Given the description of an element on the screen output the (x, y) to click on. 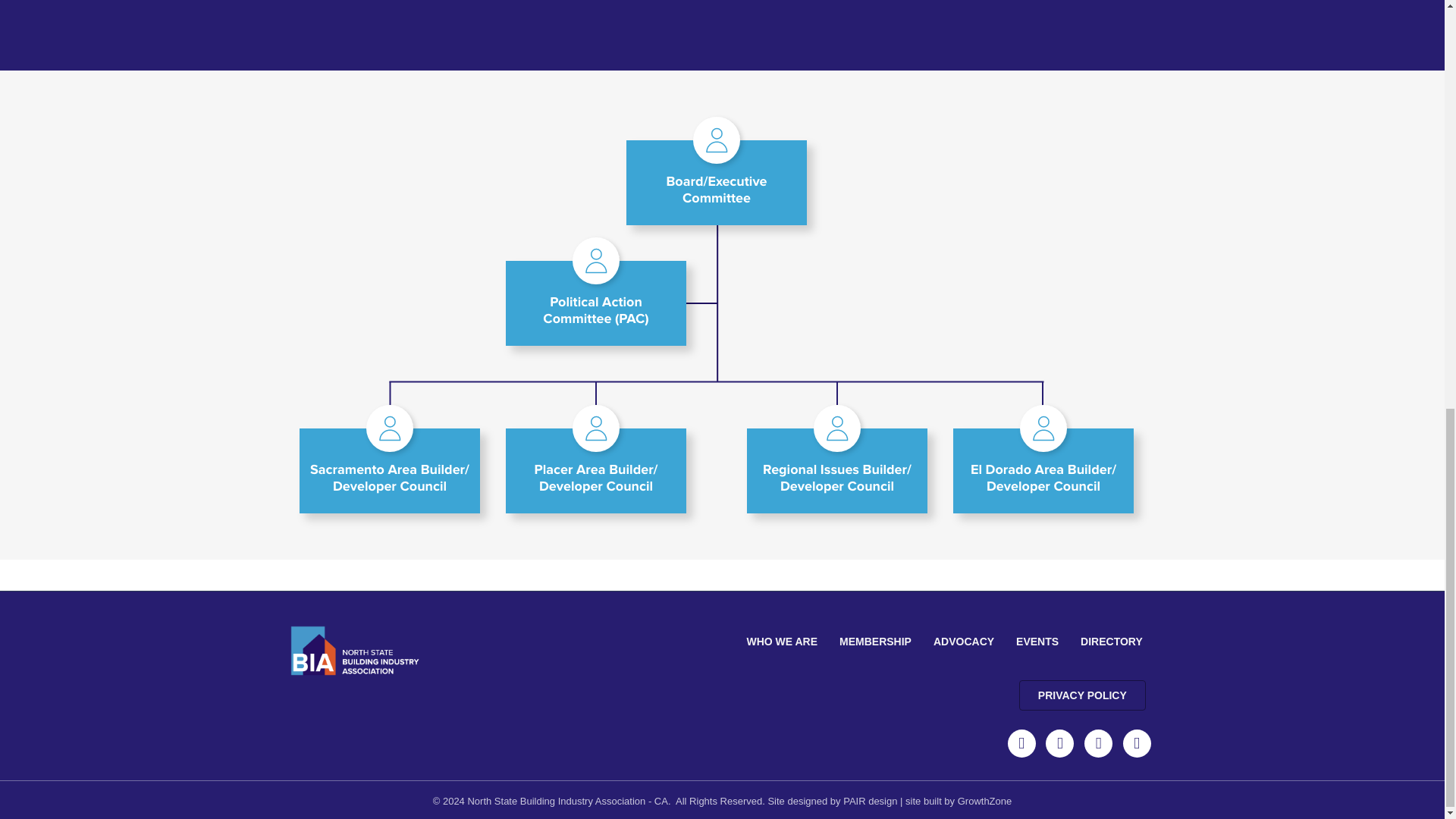
EVENTS (1037, 641)
MEMBERSHIP (874, 641)
PRIVACY POLICY (1082, 695)
ADVOCACY (963, 641)
DIRECTORY (1111, 641)
WHO WE ARE (781, 641)
